Given the description of an element on the screen output the (x, y) to click on. 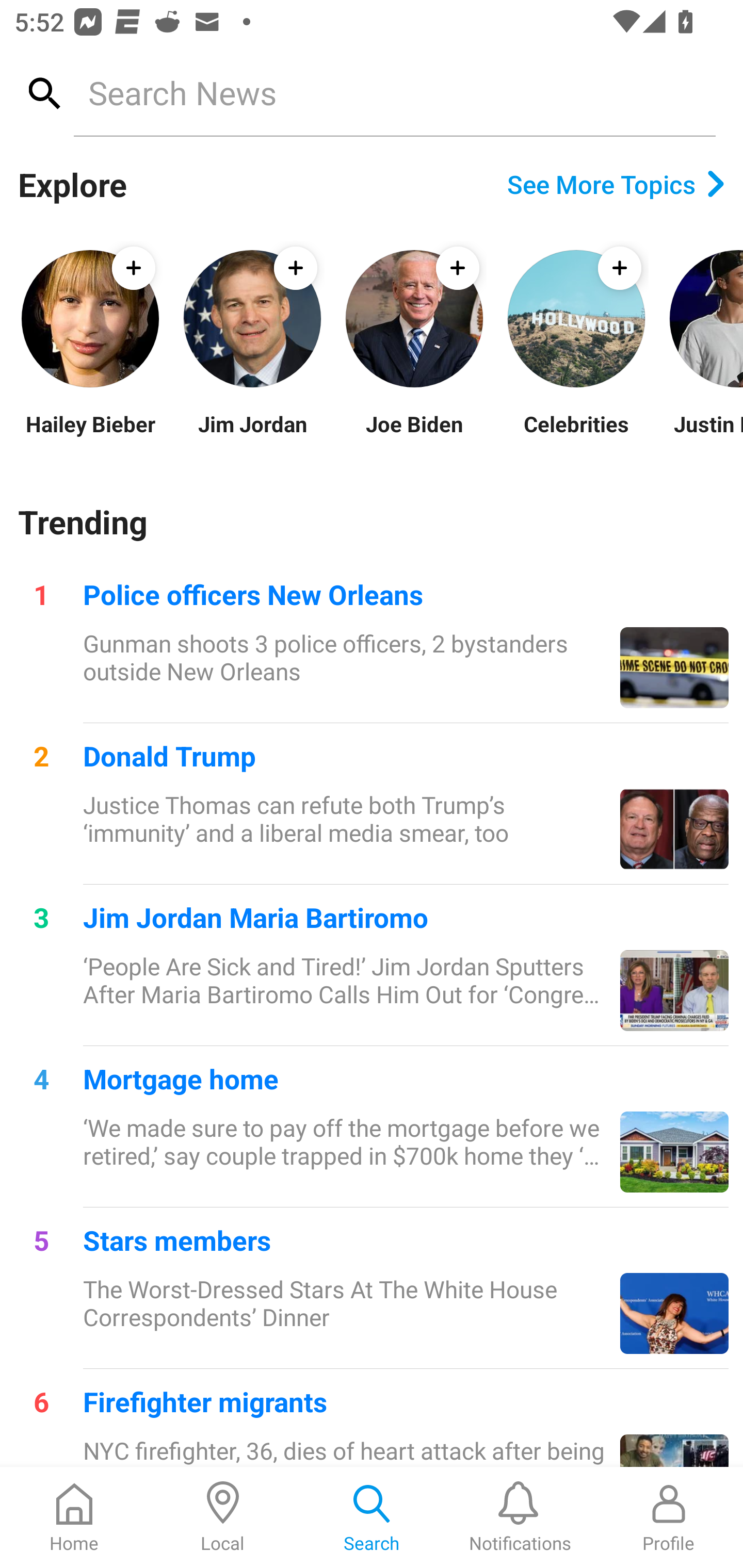
Search News (394, 92)
See More Topics (616, 183)
Hailey Bieber (89, 436)
Jim Jordan (251, 436)
Joe Biden (413, 436)
Celebrities (575, 436)
Home (74, 1517)
Local (222, 1517)
Notifications (519, 1517)
Profile (668, 1517)
